Given the description of an element on the screen output the (x, y) to click on. 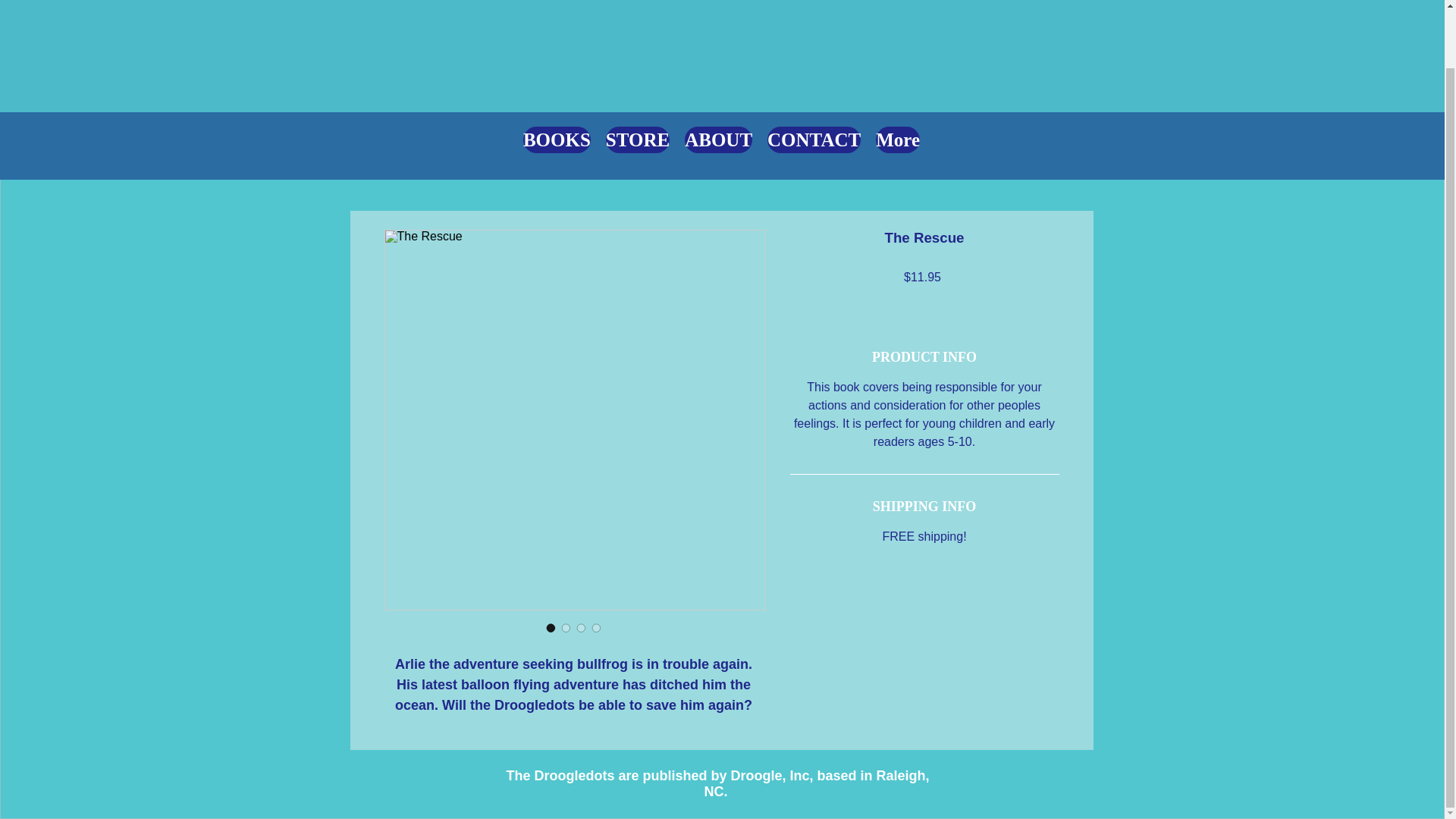
STORE (637, 144)
CONTACT (813, 144)
BOOKS (556, 144)
ABOUT (718, 144)
